Given the description of an element on the screen output the (x, y) to click on. 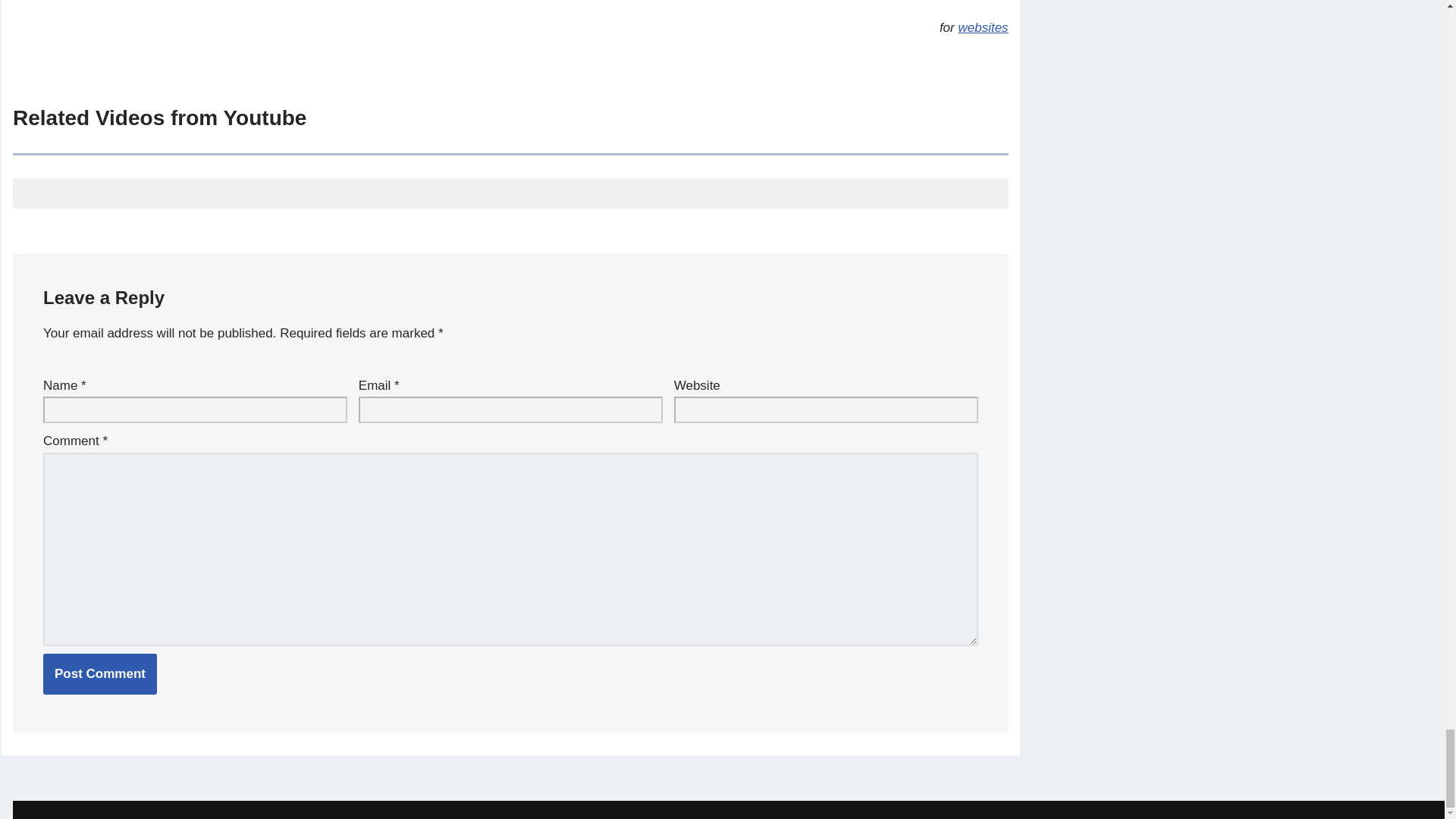
Post Comment (100, 673)
